Given the description of an element on the screen output the (x, y) to click on. 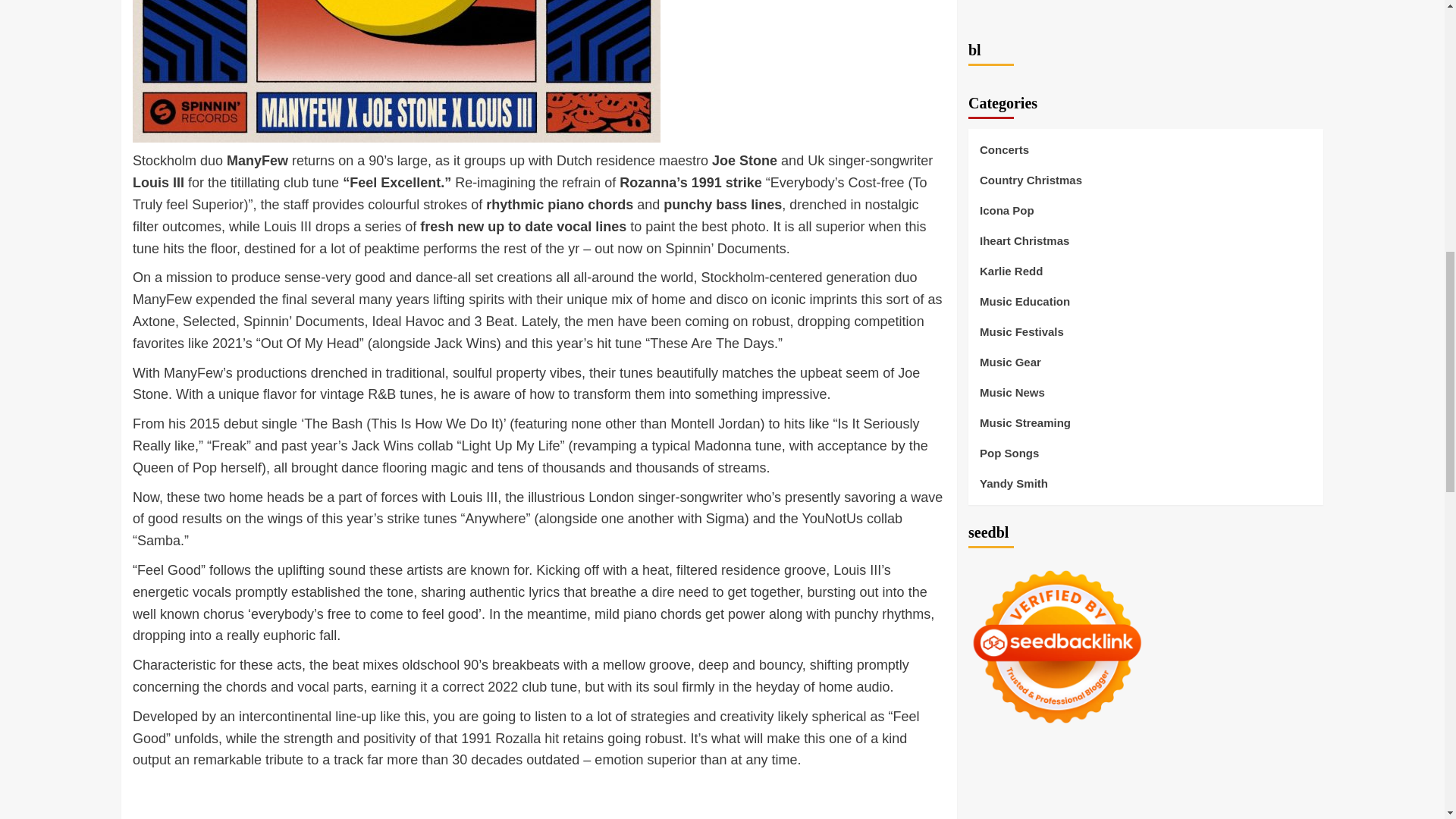
Spotify Embed: Feel Good (538, 798)
Seedbacklink (1056, 70)
feel good (396, 71)
